Given the description of an element on the screen output the (x, y) to click on. 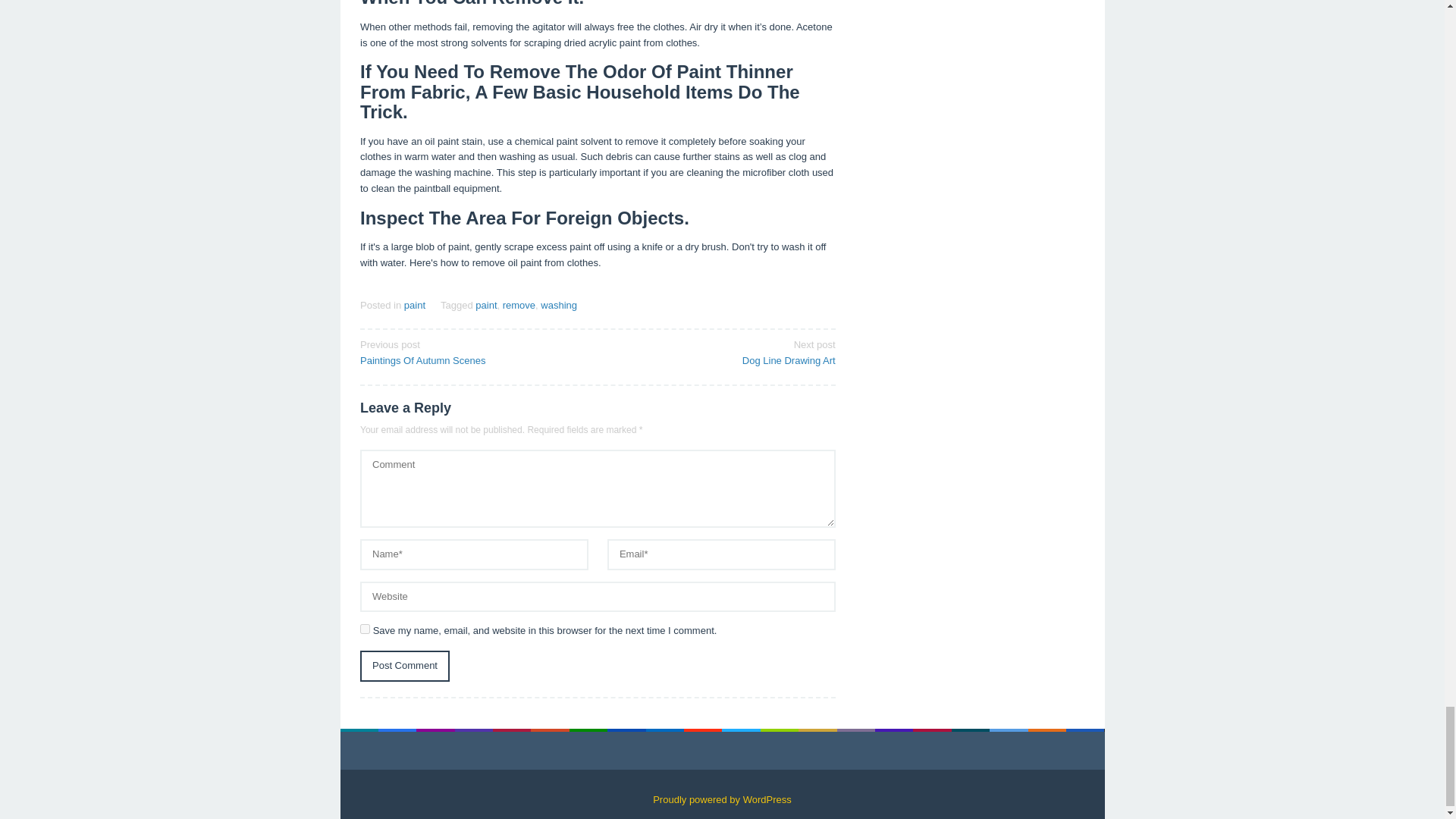
washing (558, 748)
remove (518, 748)
paint (721, 796)
paint (486, 748)
